Given the description of an element on the screen output the (x, y) to click on. 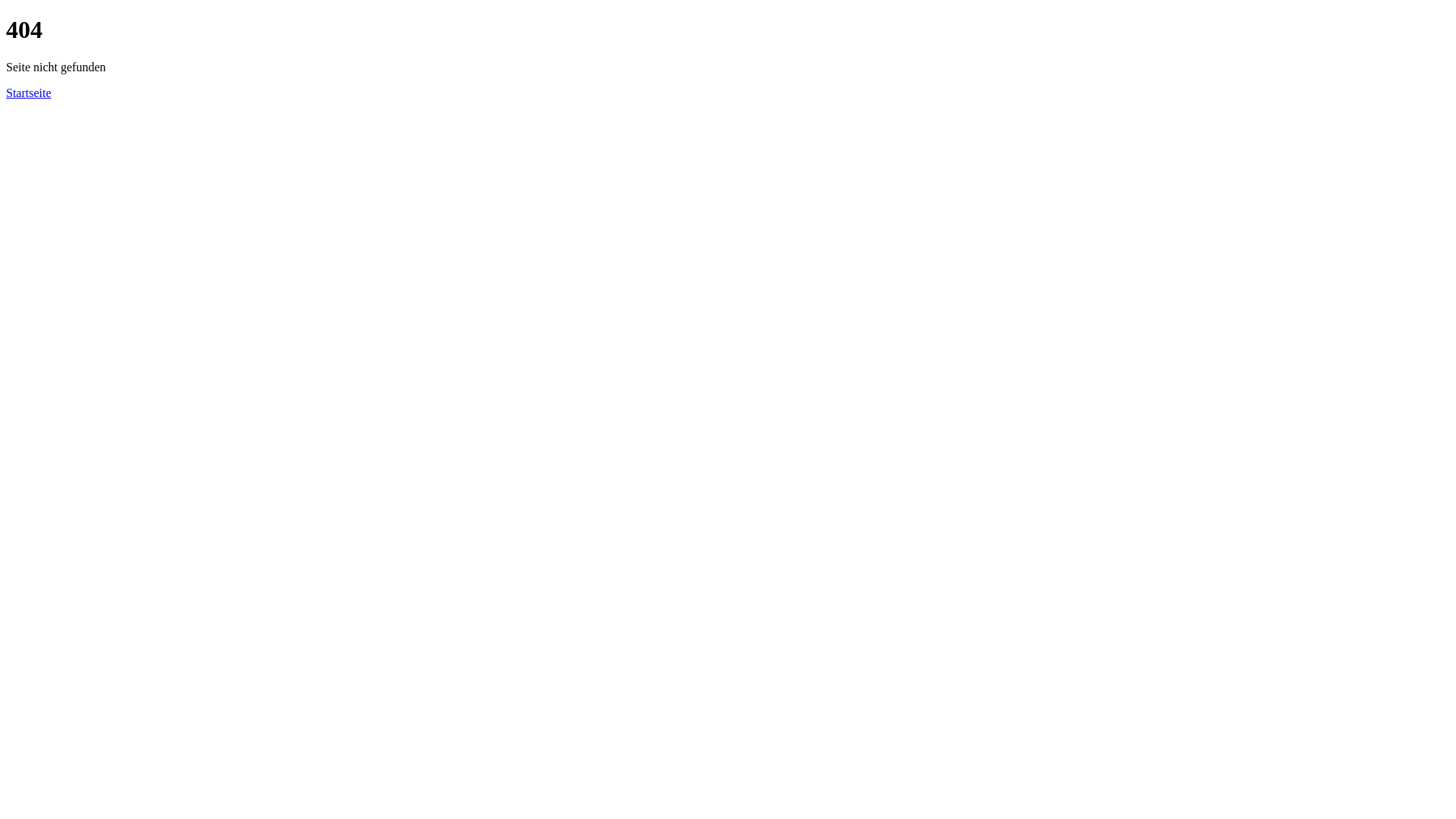
Startseite Element type: text (28, 92)
